Given the description of an element on the screen output the (x, y) to click on. 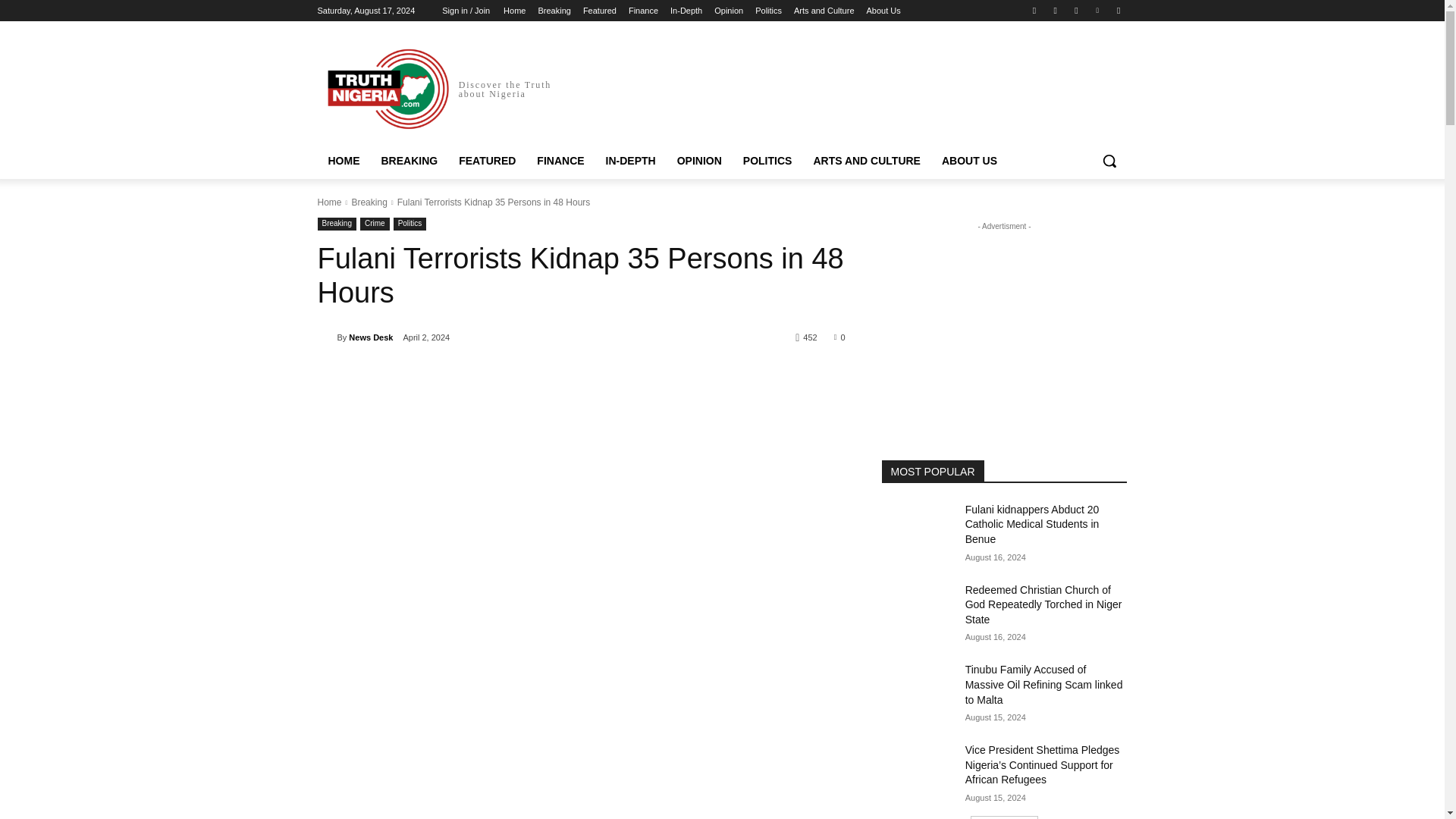
Breaking (553, 10)
View all posts in Breaking (368, 202)
Politics (768, 10)
HOME (343, 160)
OPINION (699, 160)
BREAKING (408, 160)
FEATURED (486, 160)
Arts and Culture (823, 10)
Truth Nigeria (387, 88)
News Desk (326, 337)
